Given the description of an element on the screen output the (x, y) to click on. 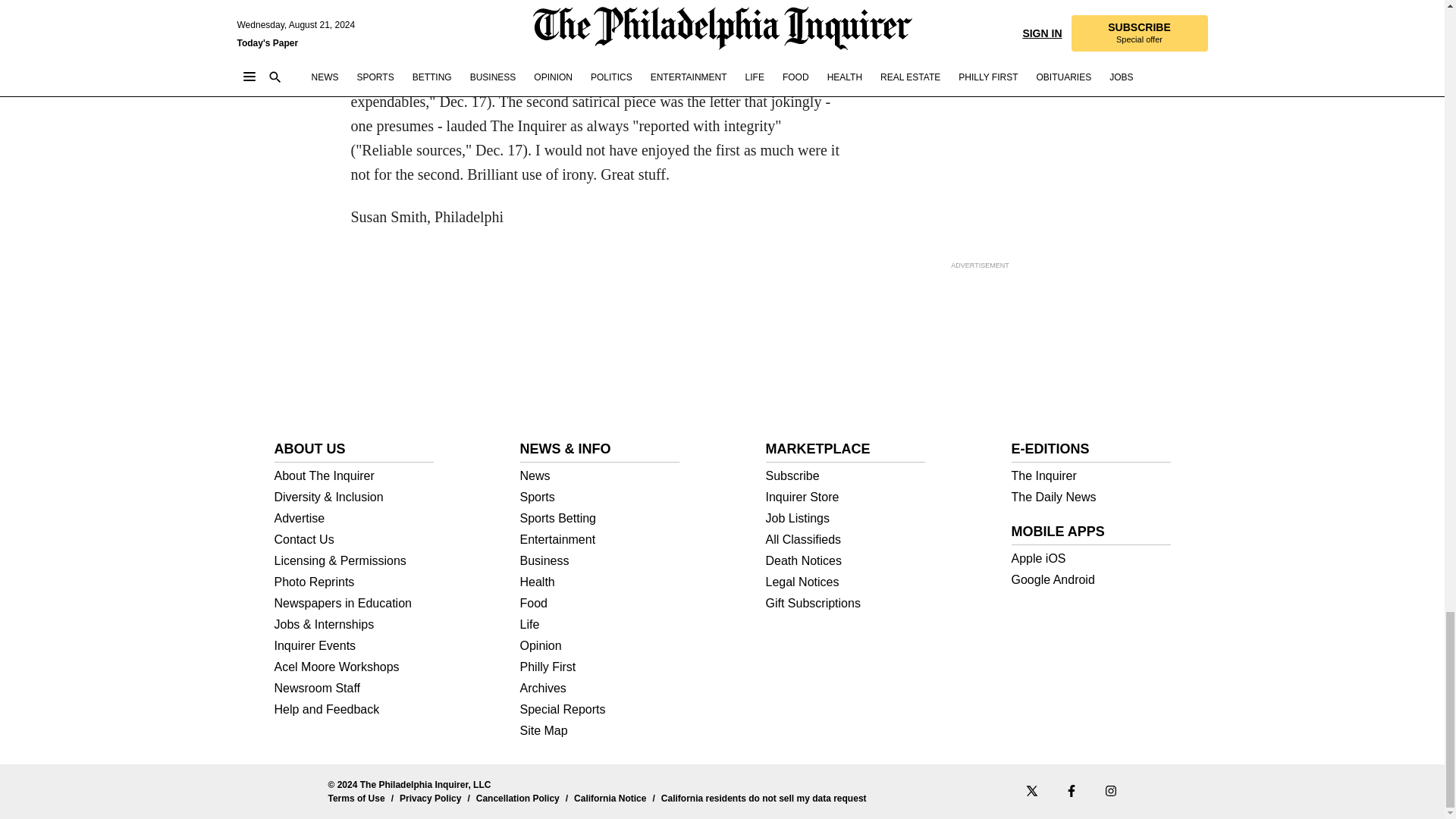
Advertise (354, 518)
X (1030, 790)
Instagram (1109, 790)
Facebook (1070, 790)
About The Inquirer (354, 476)
